Given the description of an element on the screen output the (x, y) to click on. 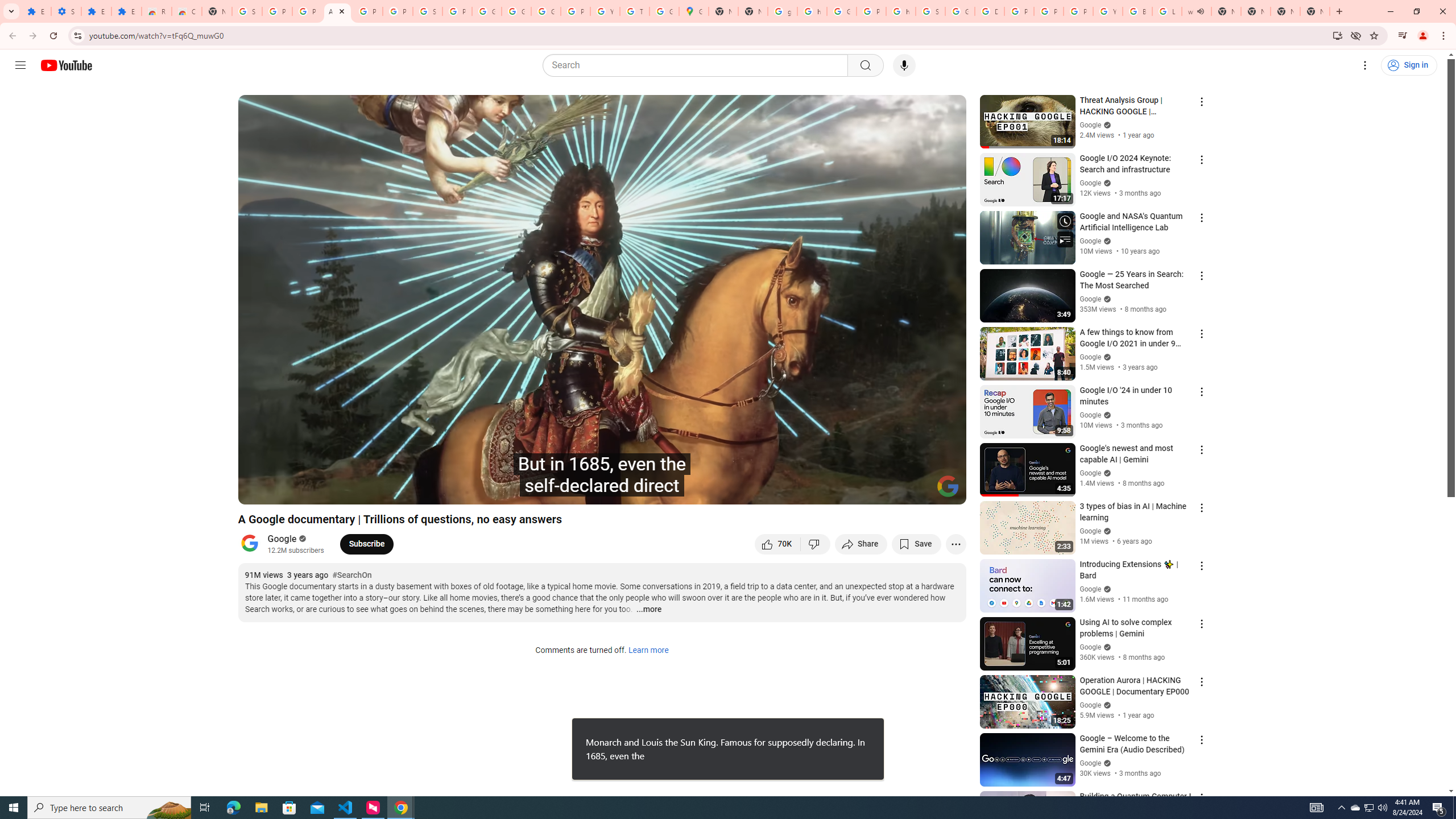
YouTube (1107, 11)
Guide (20, 65)
Subtitles/closed captions unavailable (836, 490)
Miniplayer (i) (890, 490)
Verified (1106, 762)
Search (865, 65)
Channel watermark (947, 486)
...more (648, 609)
Third-party cookies blocked (1355, 35)
